Given the description of an element on the screen output the (x, y) to click on. 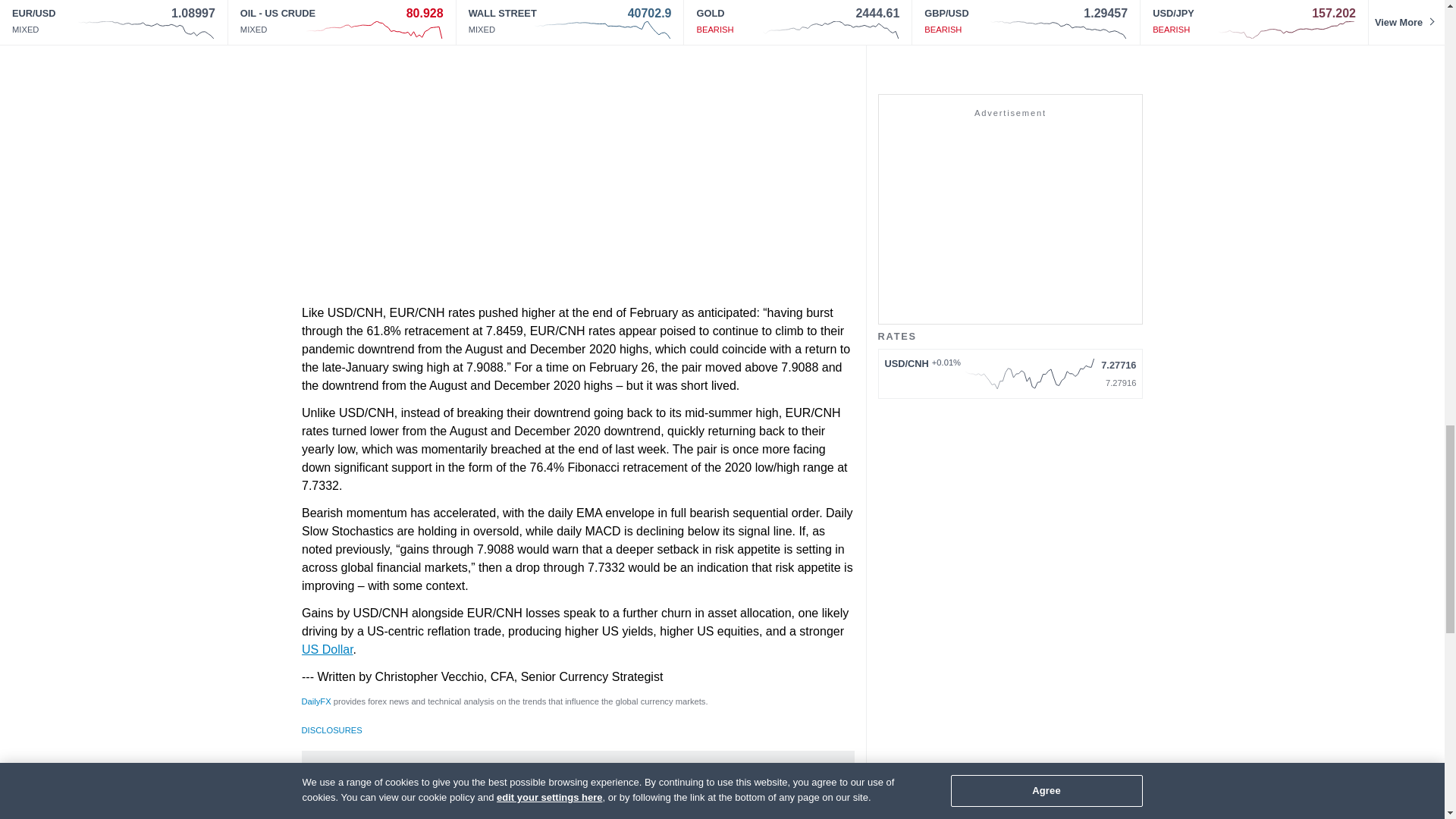
US Dollar (327, 649)
